Given the description of an element on the screen output the (x, y) to click on. 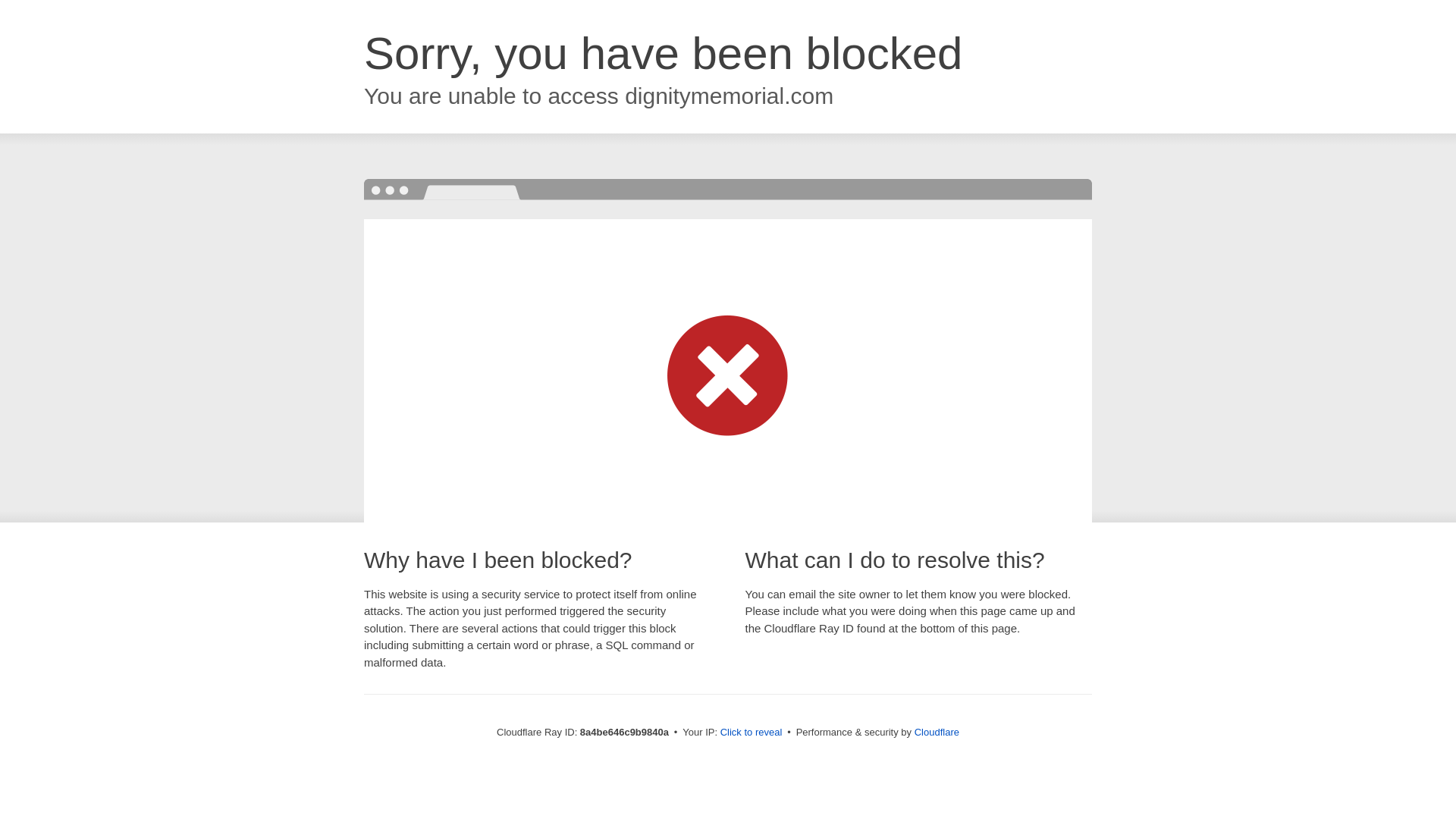
Click to reveal (751, 732)
Cloudflare (936, 731)
